Given the description of an element on the screen output the (x, y) to click on. 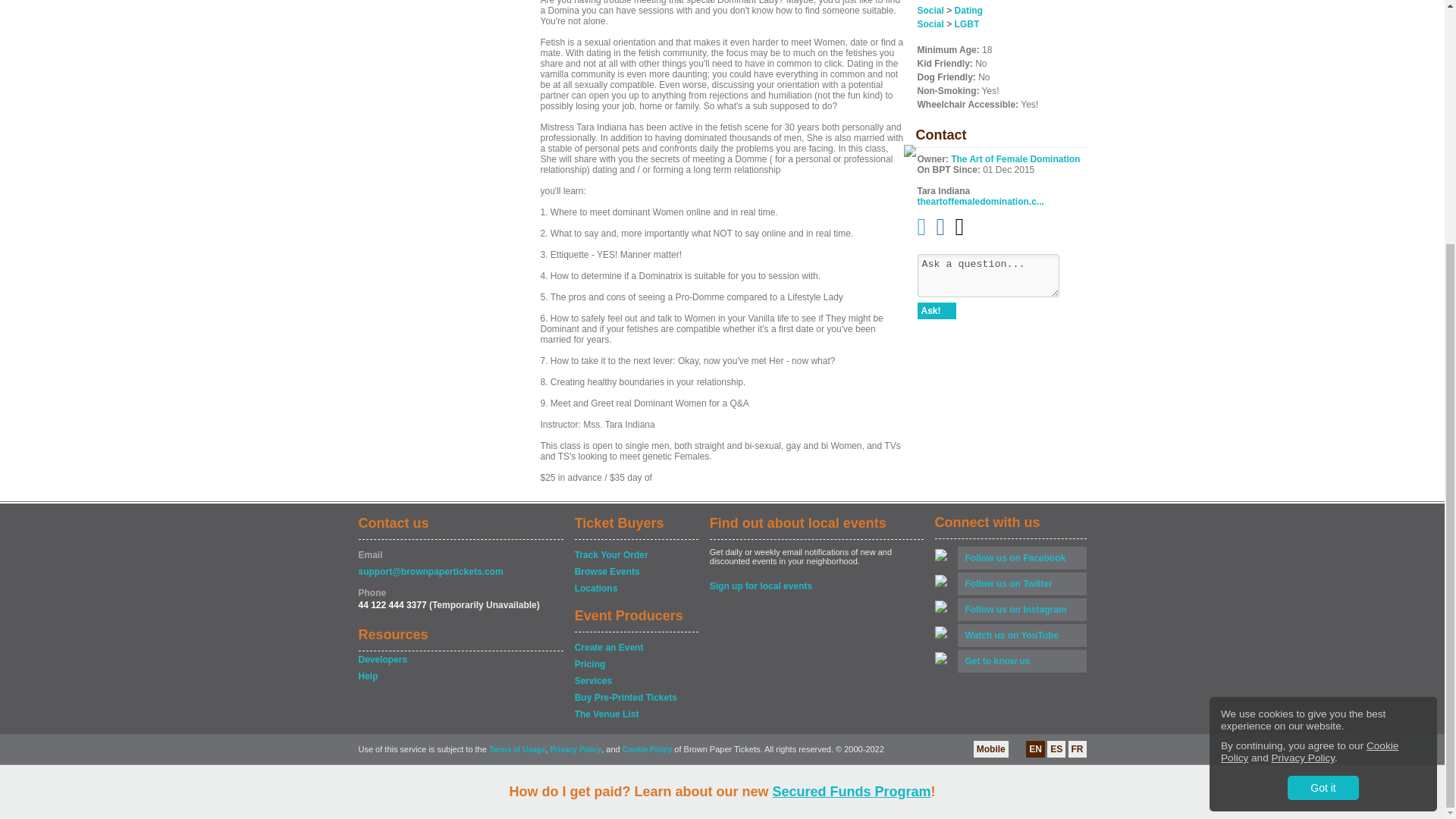
Social (930, 1)
Cookie Policy (1309, 413)
Secured Funds Program (850, 452)
LGBT (967, 23)
theartoffemaledomination.c... (980, 201)
Dating (968, 9)
Social (930, 23)
Social (930, 9)
Got it (1322, 448)
Adult (964, 1)
